Given the description of an element on the screen output the (x, y) to click on. 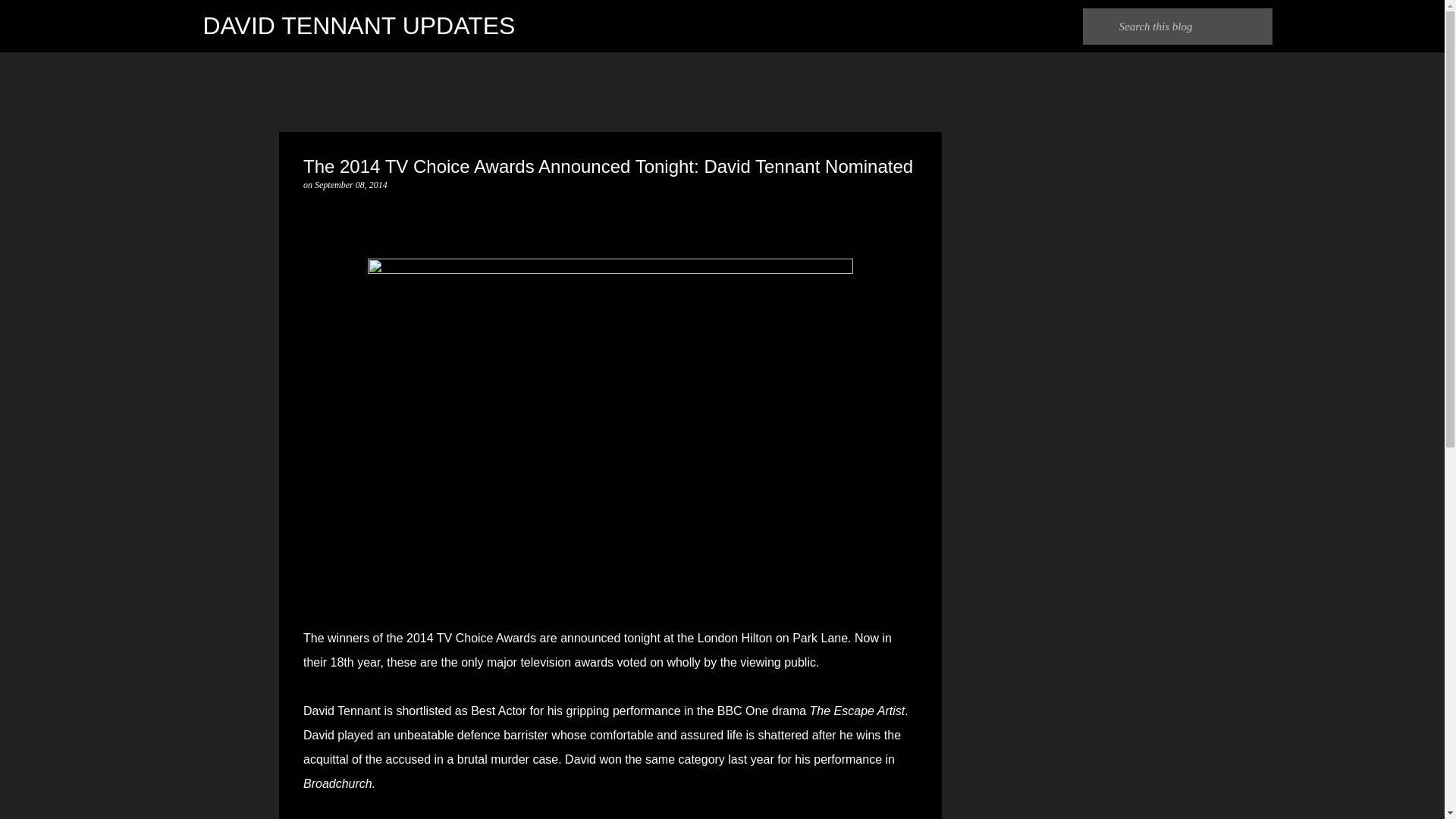
DAVID TENNANT UPDATES (359, 25)
September 08, 2014 (350, 184)
permanent link (350, 184)
